Given the description of an element on the screen output the (x, y) to click on. 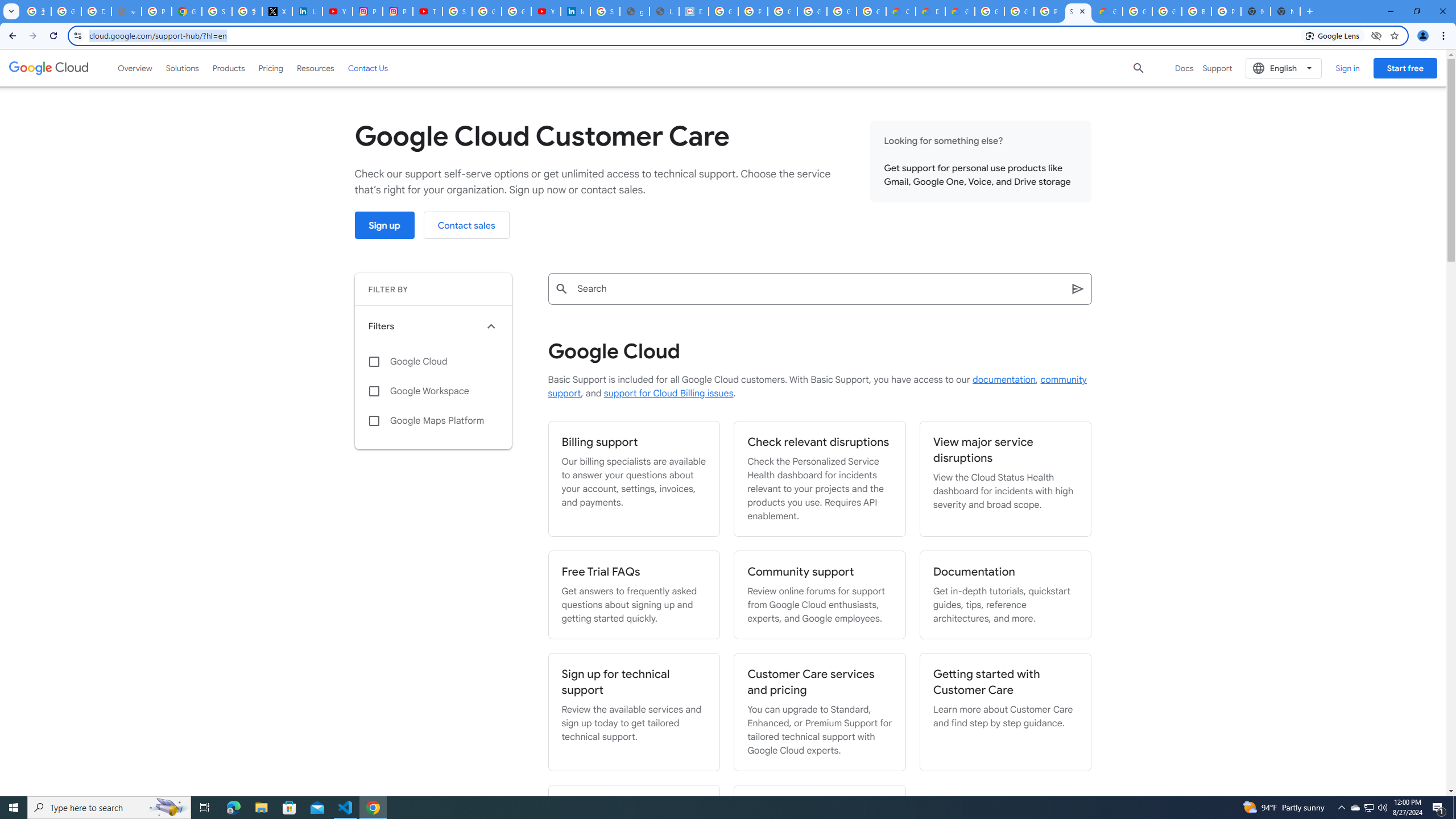
YouTube Content Monetization Policies - How YouTube Works (337, 11)
Products (228, 67)
User Details (664, 11)
Sign in - Google Accounts (456, 11)
Google Workspace - Specific Terms (841, 11)
Google Cloud (48, 67)
